Given the description of an element on the screen output the (x, y) to click on. 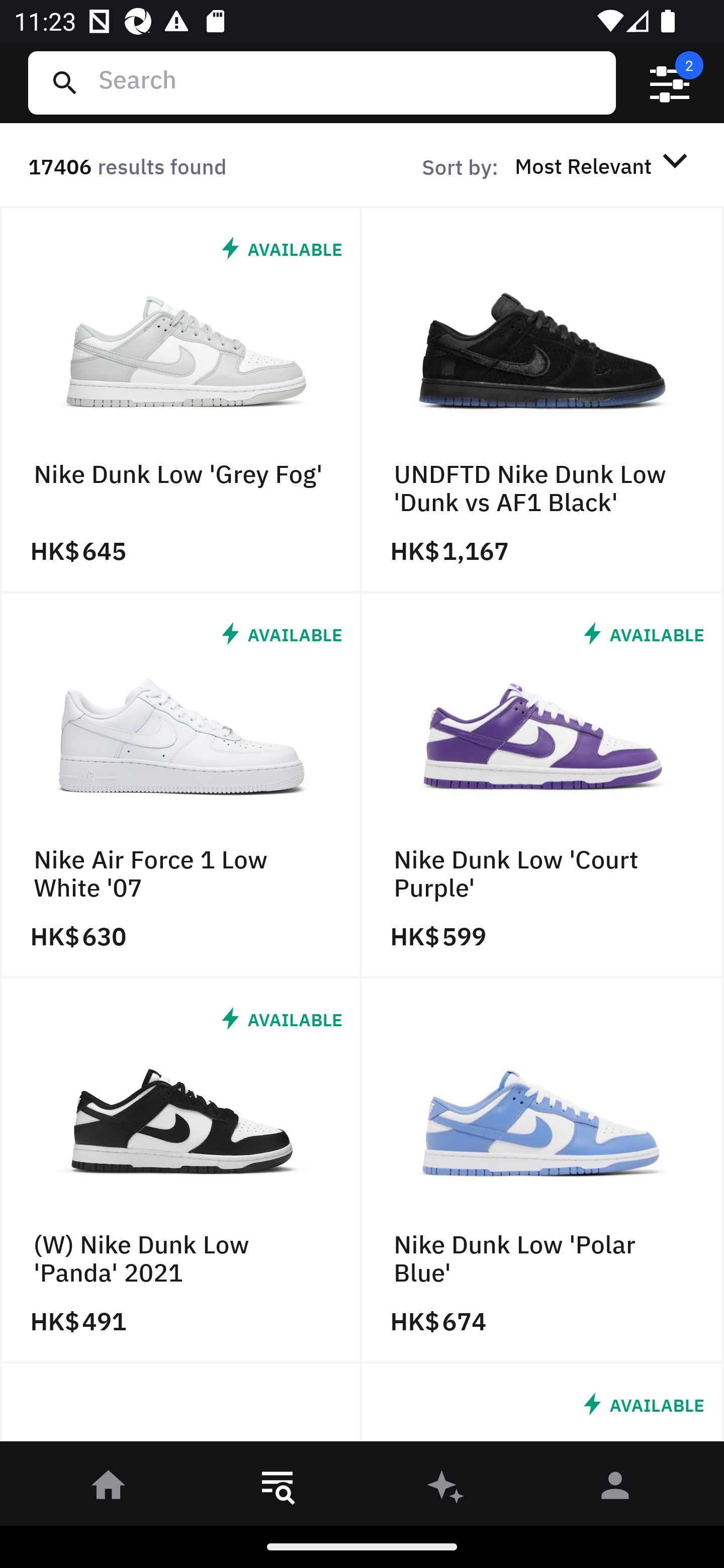
Search (349, 82)
 (669, 82)
Most Relevant  (604, 165)
 AVAILABLE Nike Dunk Low 'Grey Fog' HK$ 645 (181, 399)
UNDFTD Nike Dunk Low 'Dunk vs AF1 Black' HK$ 1,167 (543, 399)
 AVAILABLE Nike Air Force 1 Low White '07 HK$ 630 (181, 785)
 AVAILABLE Nike Dunk Low 'Court Purple' HK$ 599 (543, 785)
 AVAILABLE (W) Nike Dunk Low 'Panda' 2021 HK$ 491 (181, 1171)
Nike Dunk Low 'Polar Blue' HK$ 674 (543, 1171)
󰋜 (108, 1488)
󱎸 (277, 1488)
󰫢 (446, 1488)
󰀄 (615, 1488)
